Given the description of an element on the screen output the (x, y) to click on. 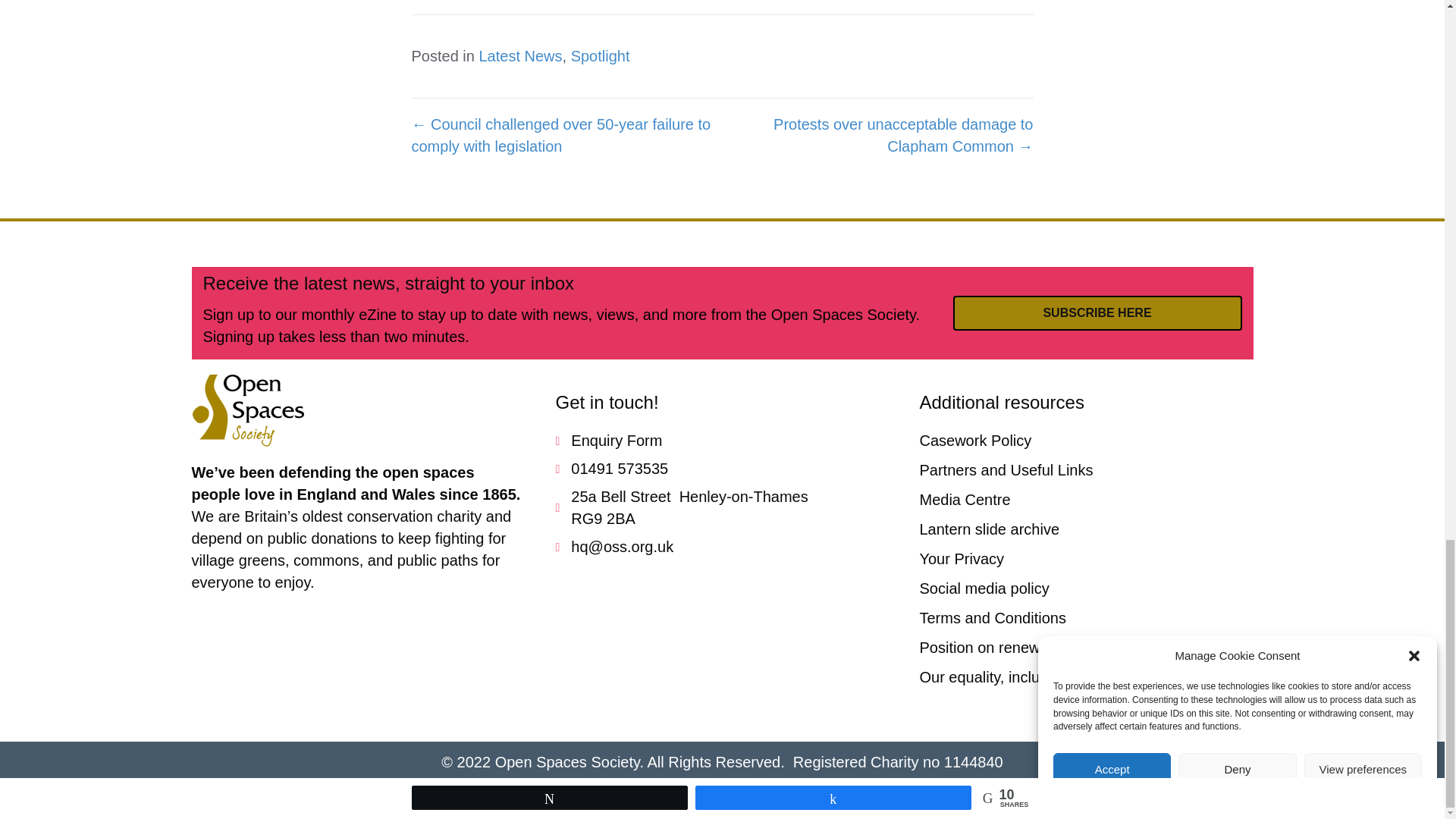
oss-logo (247, 410)
